Given the description of an element on the screen output the (x, y) to click on. 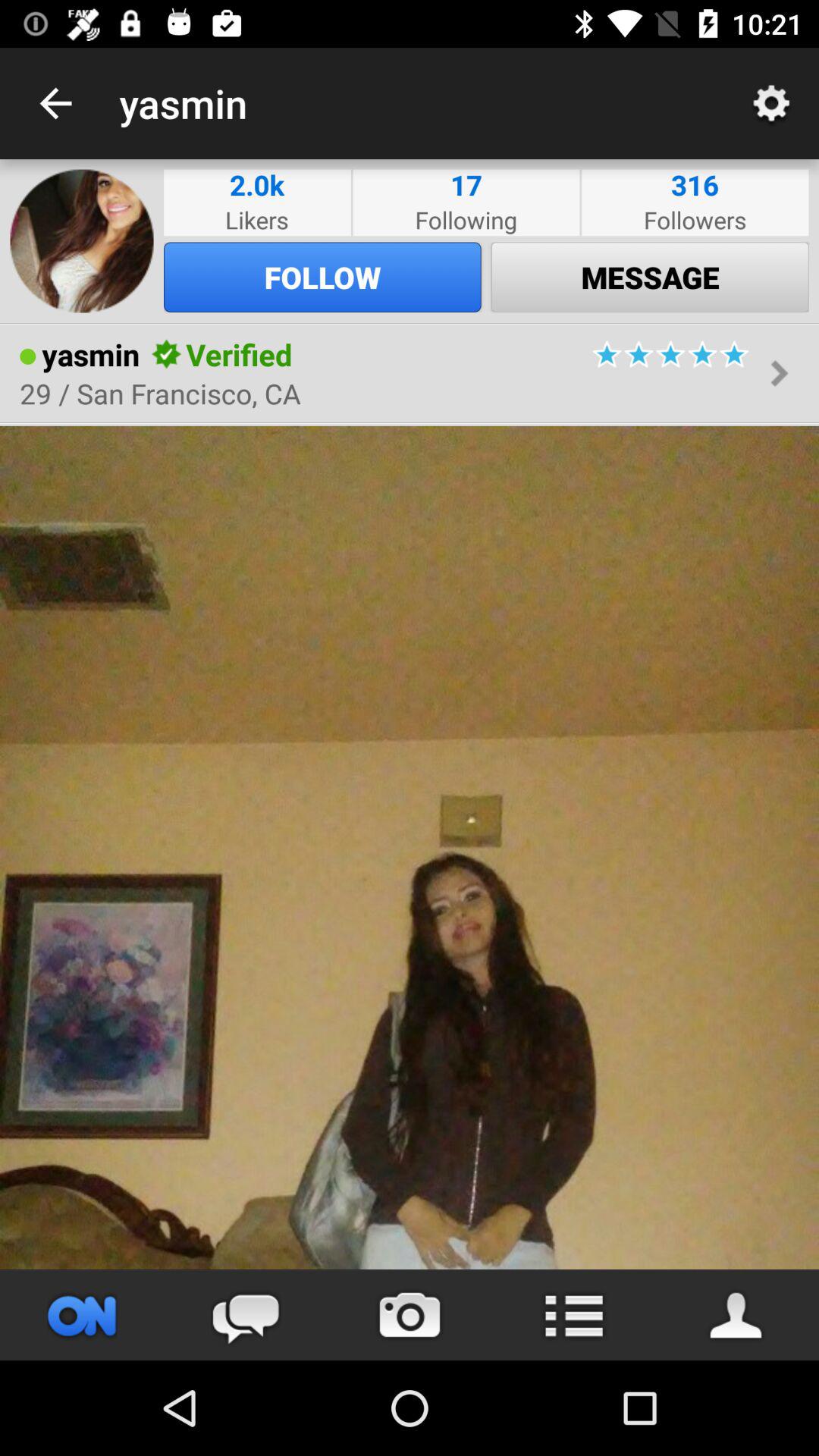
turn off icon below the yasmin (159, 393)
